Given the description of an element on the screen output the (x, y) to click on. 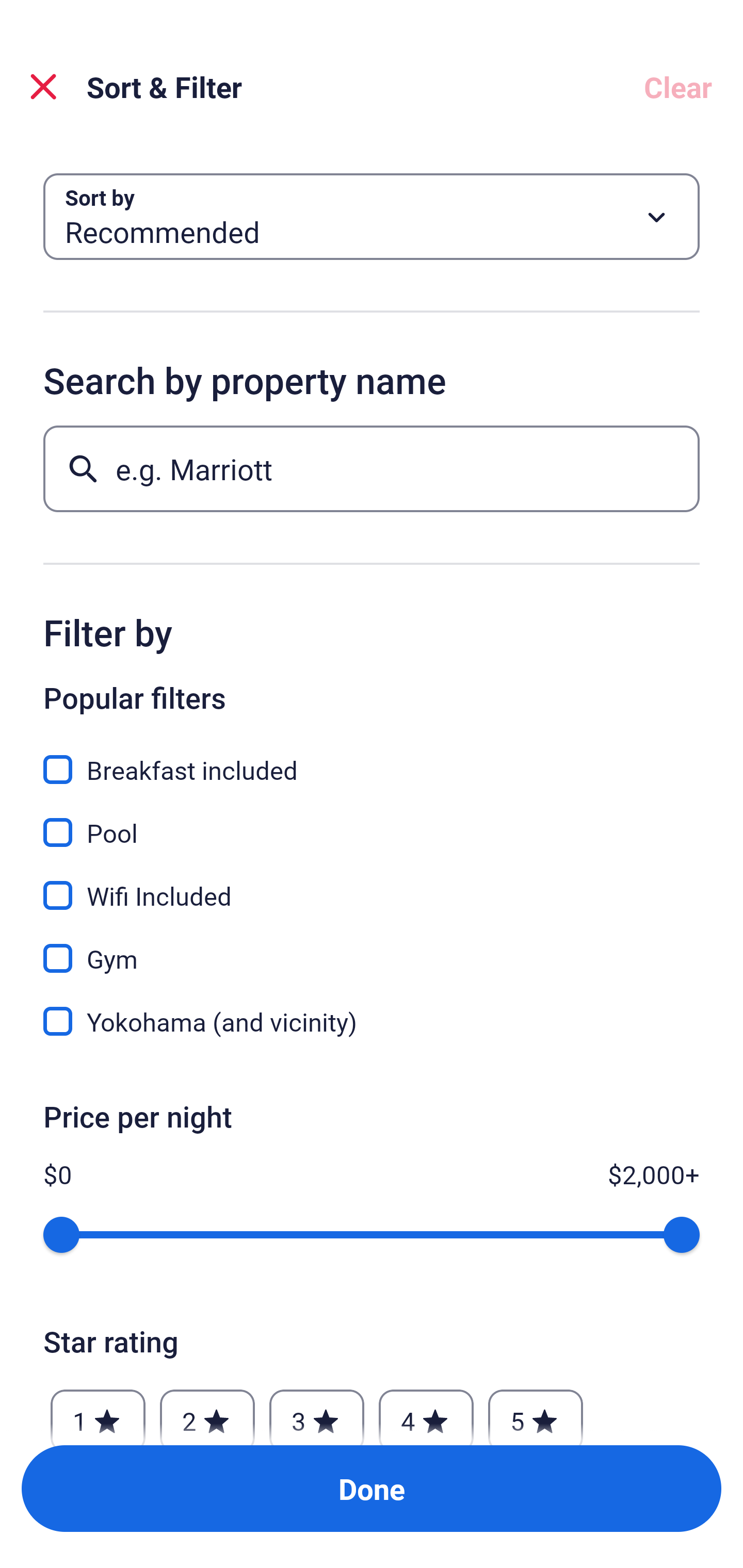
Close Sort and Filter (43, 86)
Clear (677, 86)
Sort by Button Recommended (371, 217)
e.g. Marriott Button (371, 468)
Breakfast included, Breakfast included (371, 757)
Pool, Pool (371, 821)
Wifi Included, Wifi Included (371, 883)
Gym, Gym (371, 946)
Yokohama (and vicinity), Yokohama (and vicinity) (371, 1021)
1 (97, 1411)
2 (206, 1411)
3 (316, 1411)
4 (426, 1411)
5 (535, 1411)
Apply and close Sort and Filter Done (371, 1488)
